Given the description of an element on the screen output the (x, y) to click on. 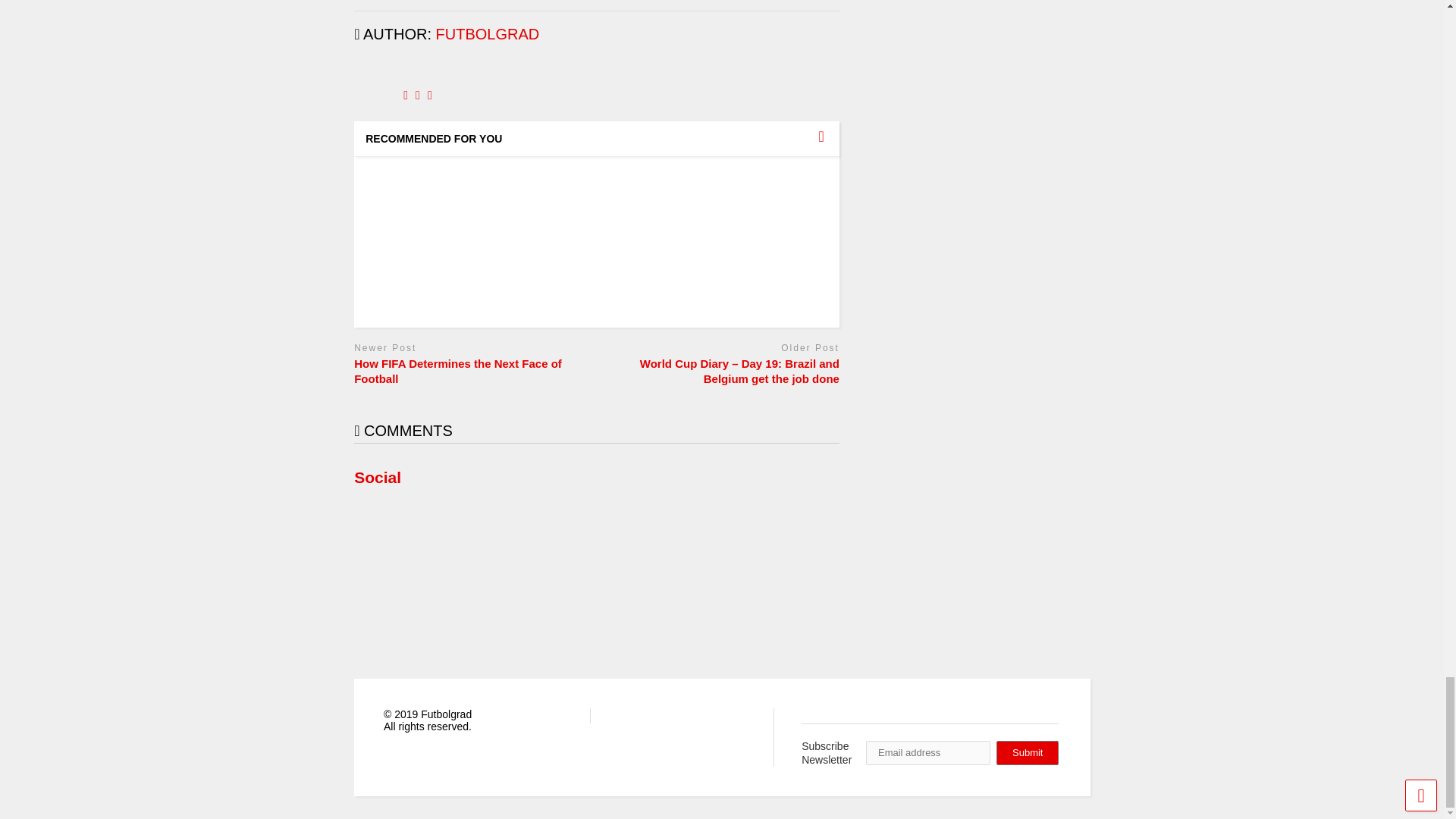
Submit (1026, 752)
